Given the description of an element on the screen output the (x, y) to click on. 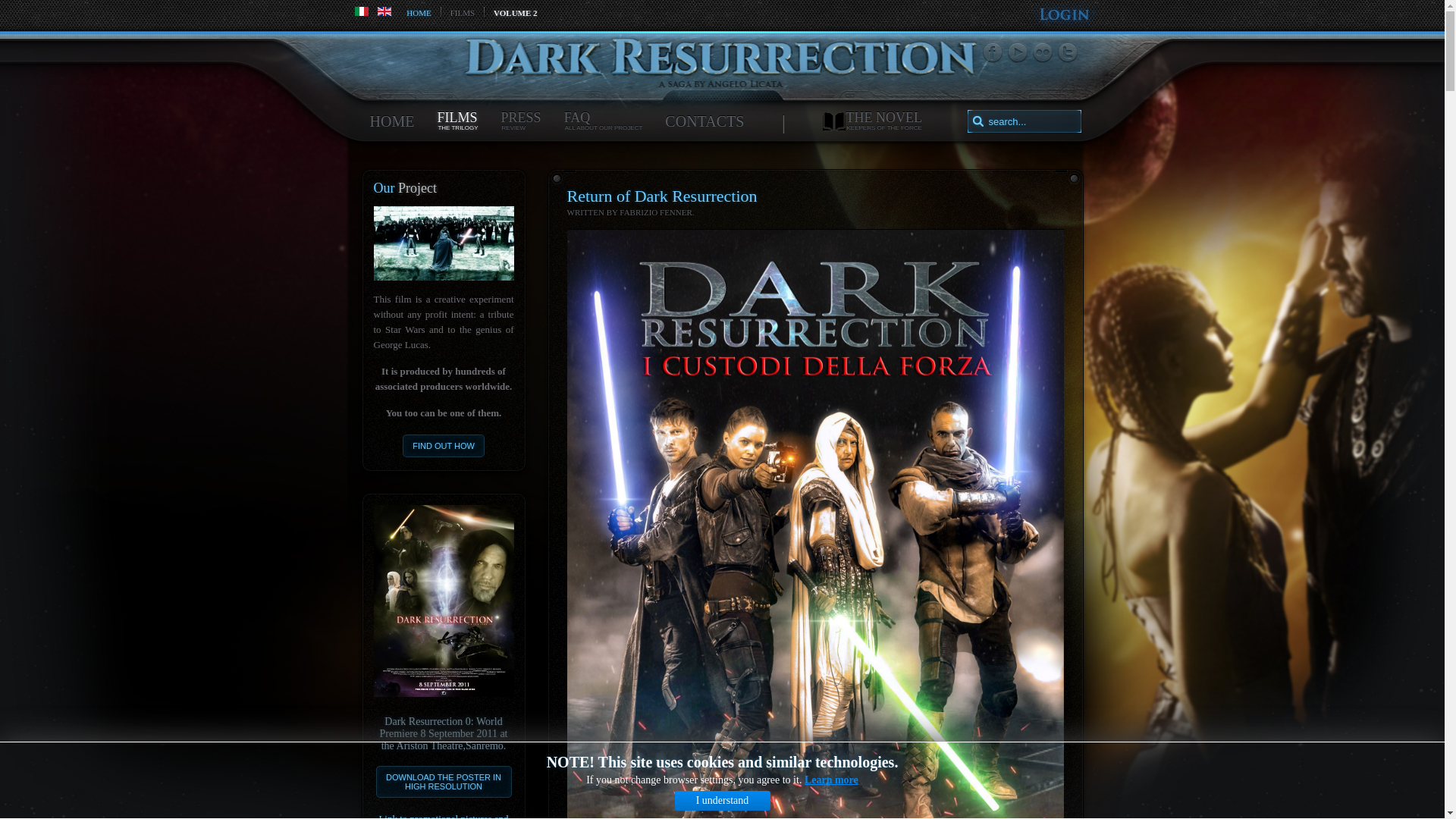
flickr (873, 120)
youtube (1042, 52)
twitter (1017, 52)
flickr (1067, 52)
Reset (1042, 52)
HOME (3, 2)
facebook (392, 120)
Return of Dark Resurrection (992, 52)
facebook (520, 120)
Return of Dark Resurrection (662, 195)
twitter (992, 52)
LOGIN (662, 195)
CONTACTS (1067, 52)
